Given the description of an element on the screen output the (x, y) to click on. 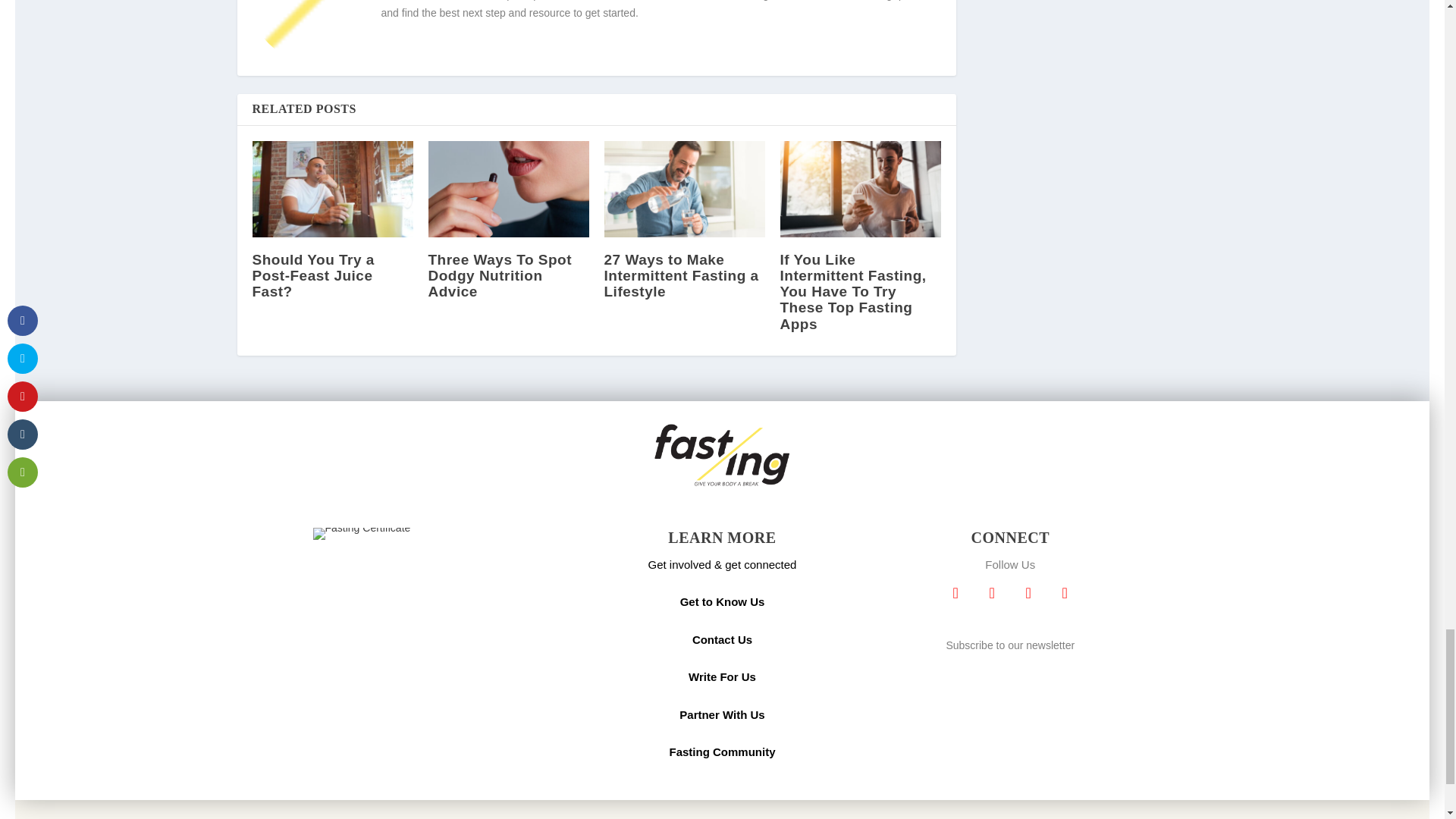
Should You Try a Post-Feast Juice Fast? (331, 188)
Three Ways To Spot Dodgy Nutrition Advice (508, 188)
27 Ways to Make Intermittent Fasting a Lifestyle (684, 188)
